Given the description of an element on the screen output the (x, y) to click on. 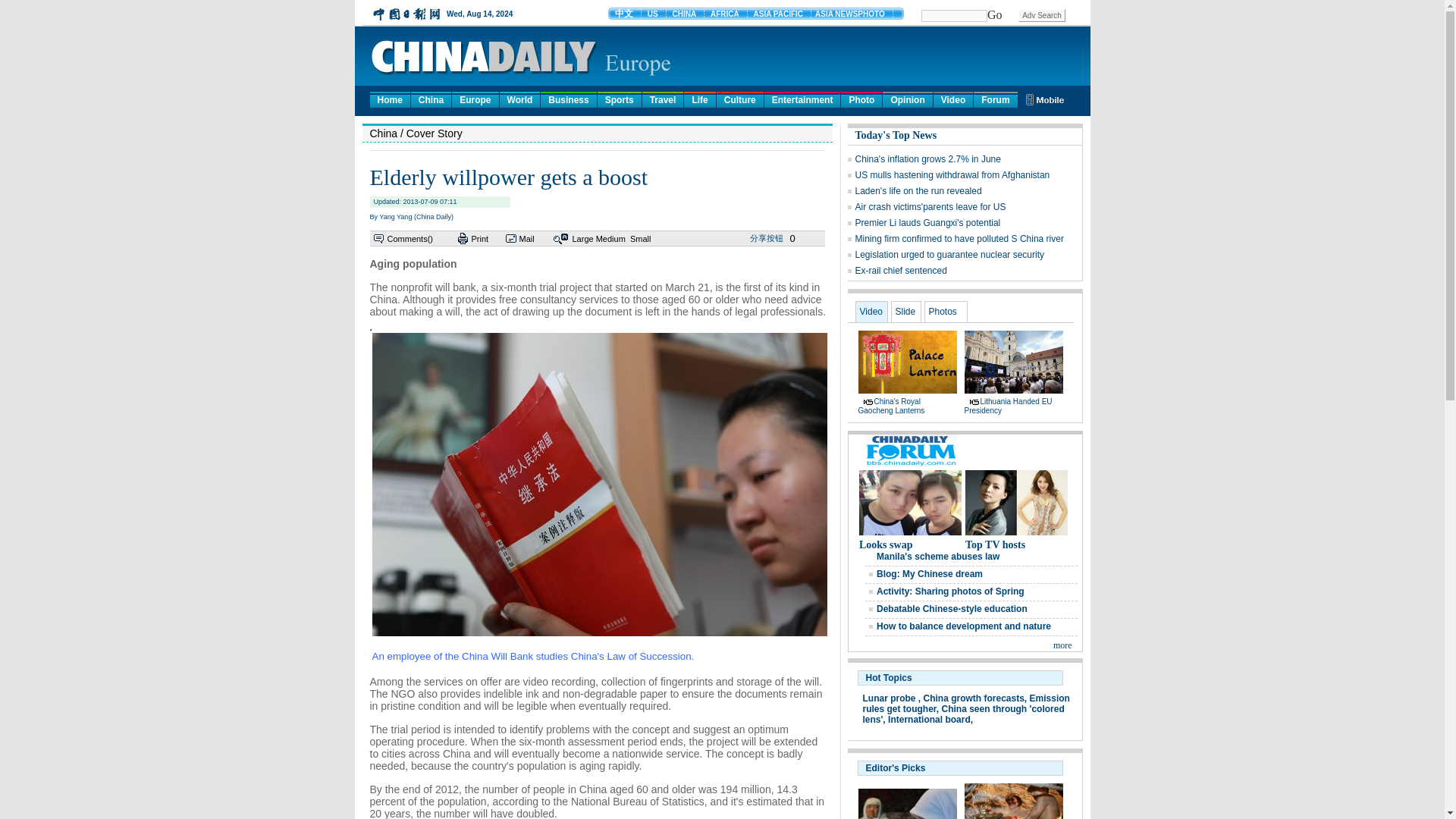
China (430, 99)
Home (389, 99)
Sports (619, 99)
Business (567, 99)
Europe (474, 99)
Travel (663, 99)
Life (699, 99)
World (519, 99)
